Given the description of an element on the screen output the (x, y) to click on. 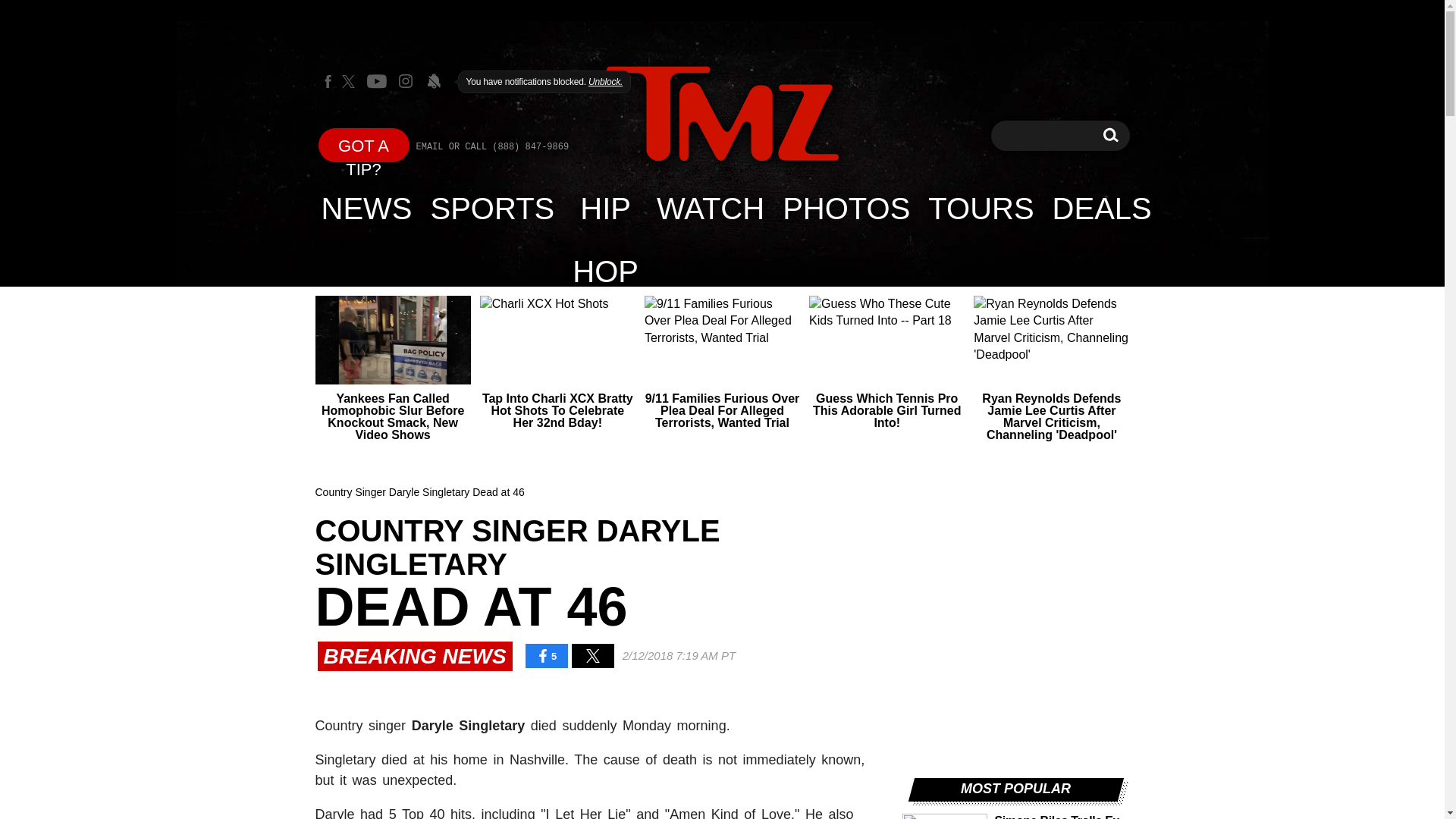
WATCH (710, 207)
SPORTS (493, 207)
DEALS (1110, 135)
Search (1101, 207)
Skip to main content (1110, 134)
GOT A TIP? (980, 207)
HIP HOP (363, 144)
TMZ (605, 207)
PHOTOS (722, 113)
NEWS (845, 207)
TMZ (367, 207)
